Given the description of an element on the screen output the (x, y) to click on. 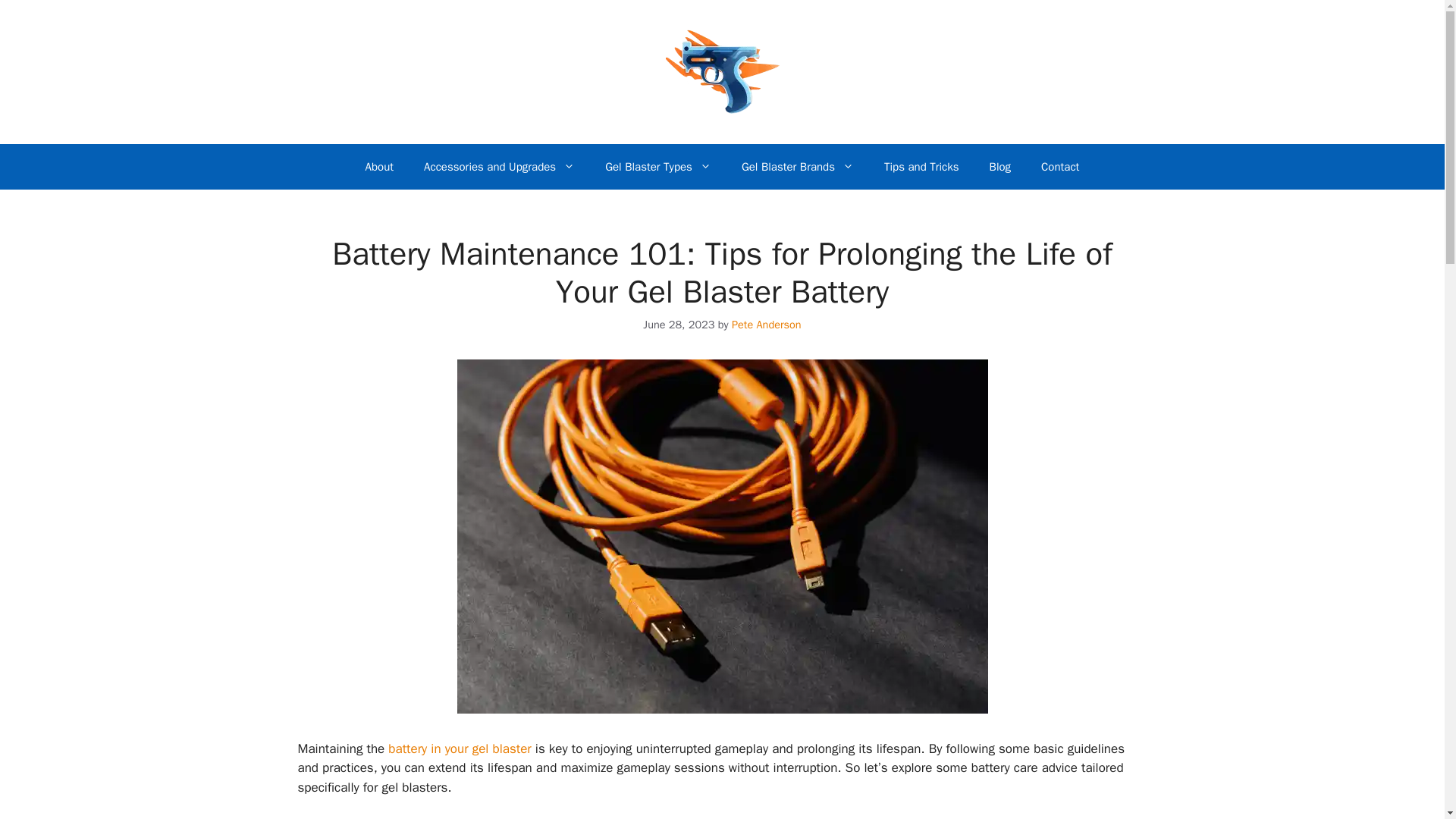
Accessories and Upgrades (499, 166)
View all posts by Pete Anderson (767, 324)
Gel Blaster Brands (797, 166)
Gel Blaster Types (657, 166)
About (379, 166)
battery in your gel blaster (459, 748)
Tips and Tricks (921, 166)
Contact (1060, 166)
Pete Anderson (767, 324)
Blog (1000, 166)
